Given the description of an element on the screen output the (x, y) to click on. 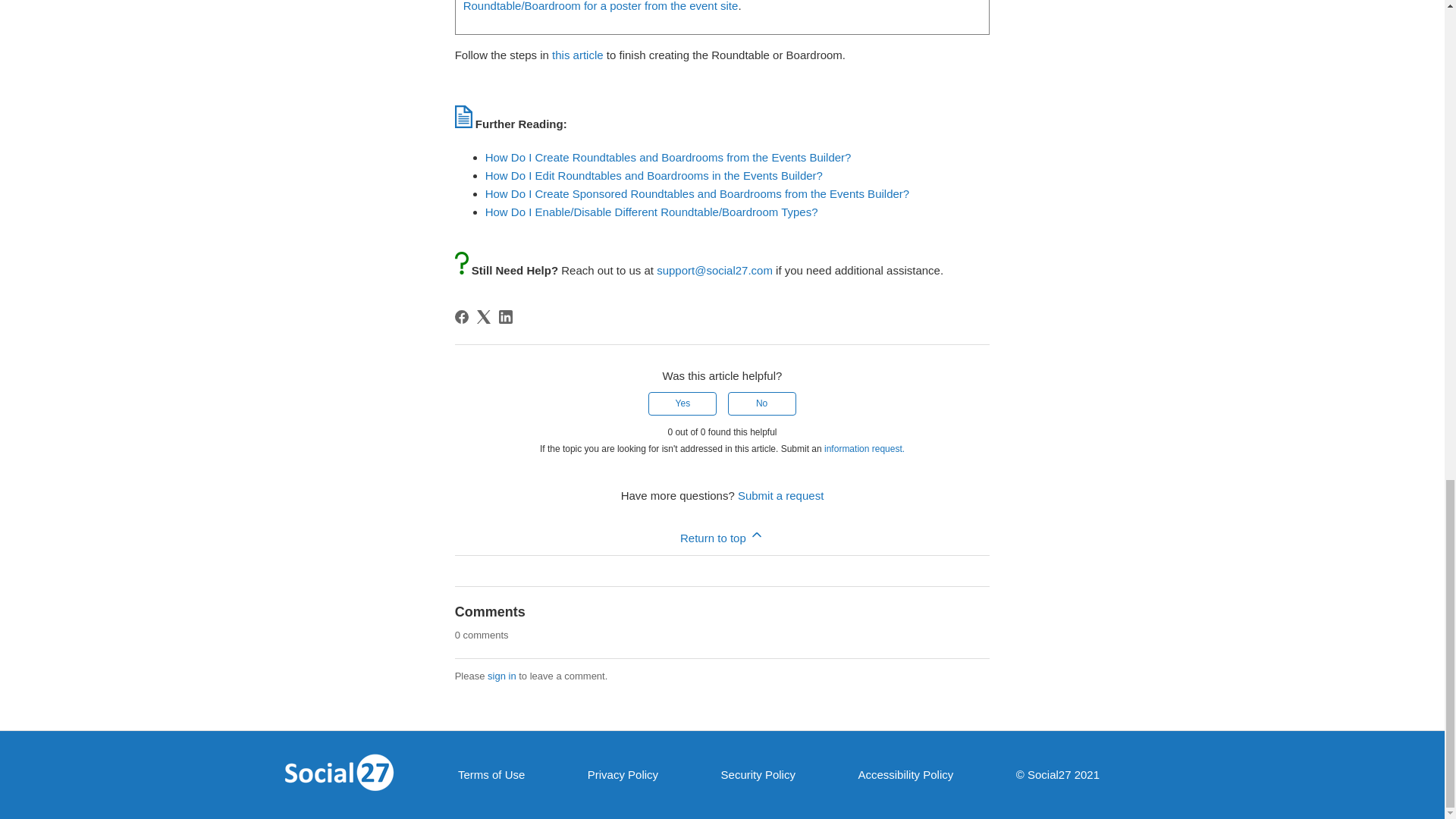
Yes (681, 403)
this article (577, 54)
No (762, 403)
information request. (864, 448)
Home (338, 774)
